Given the description of an element on the screen output the (x, y) to click on. 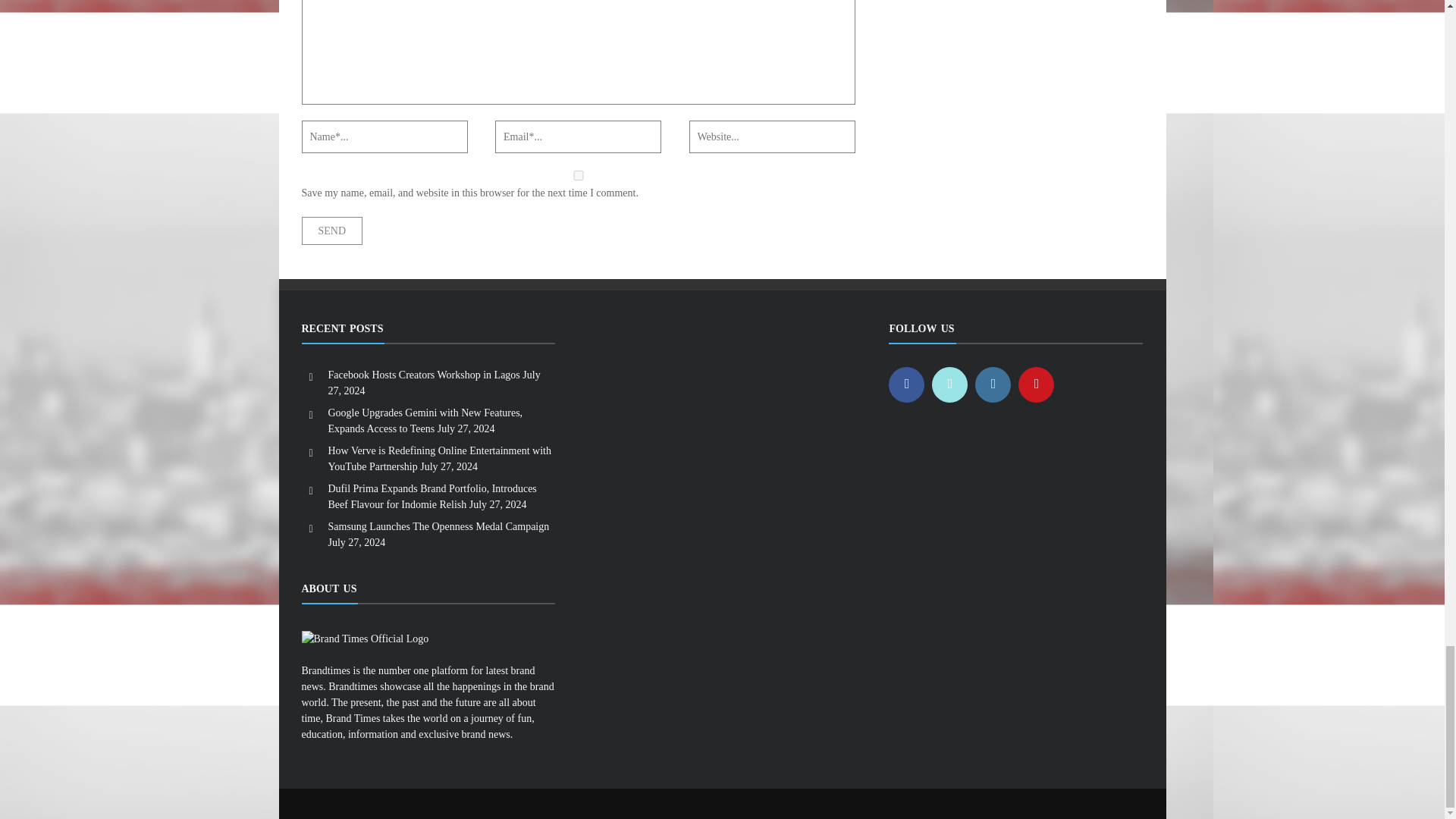
yes (578, 175)
Send (331, 230)
